Given the description of an element on the screen output the (x, y) to click on. 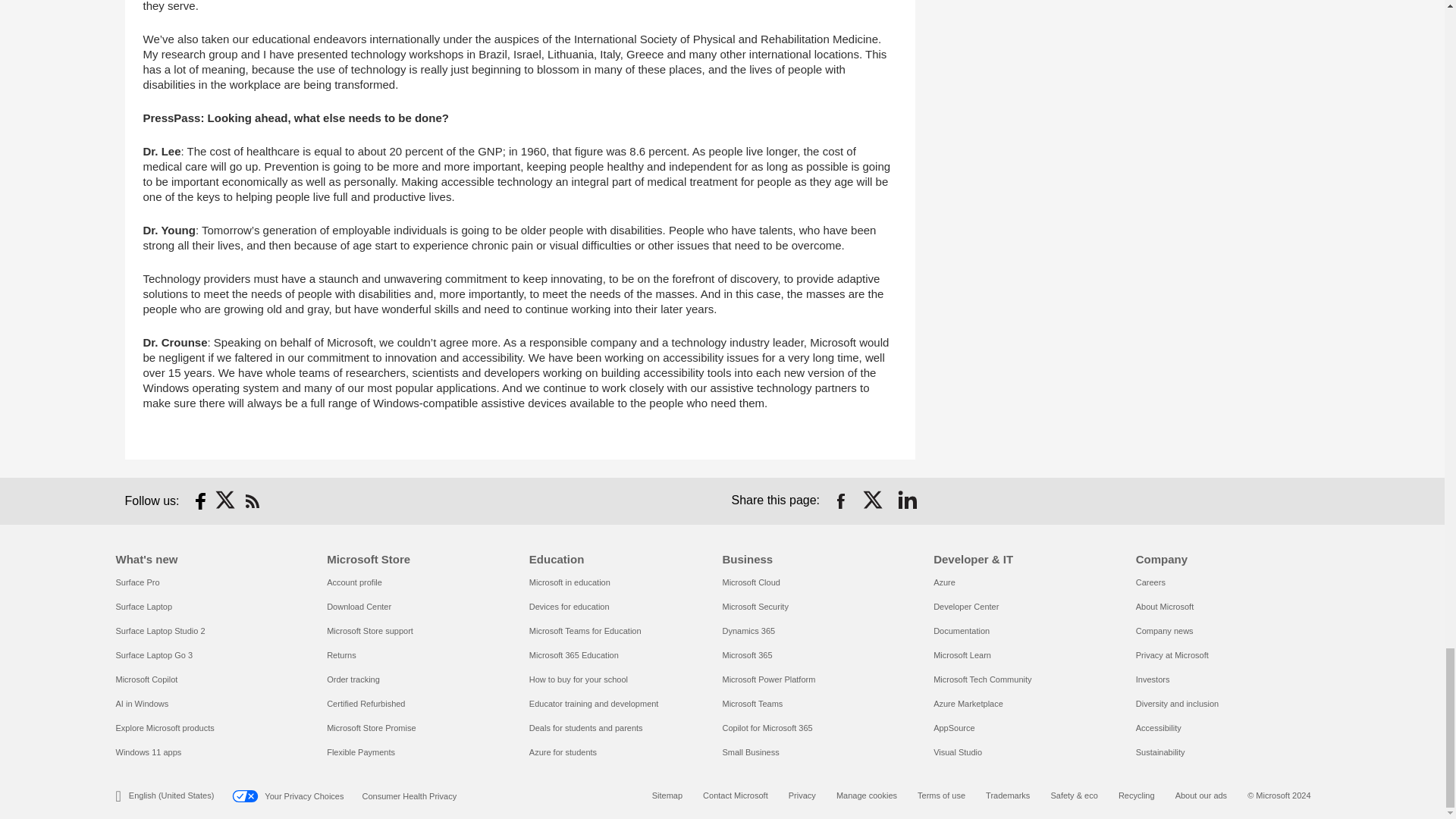
Share on Twitter (873, 500)
Follow on Facebook (200, 500)
RSS Subscription (252, 500)
Follow on Twitter (226, 500)
Share on Facebook (840, 500)
Share on LinkedIn (907, 500)
